Given the description of an element on the screen output the (x, y) to click on. 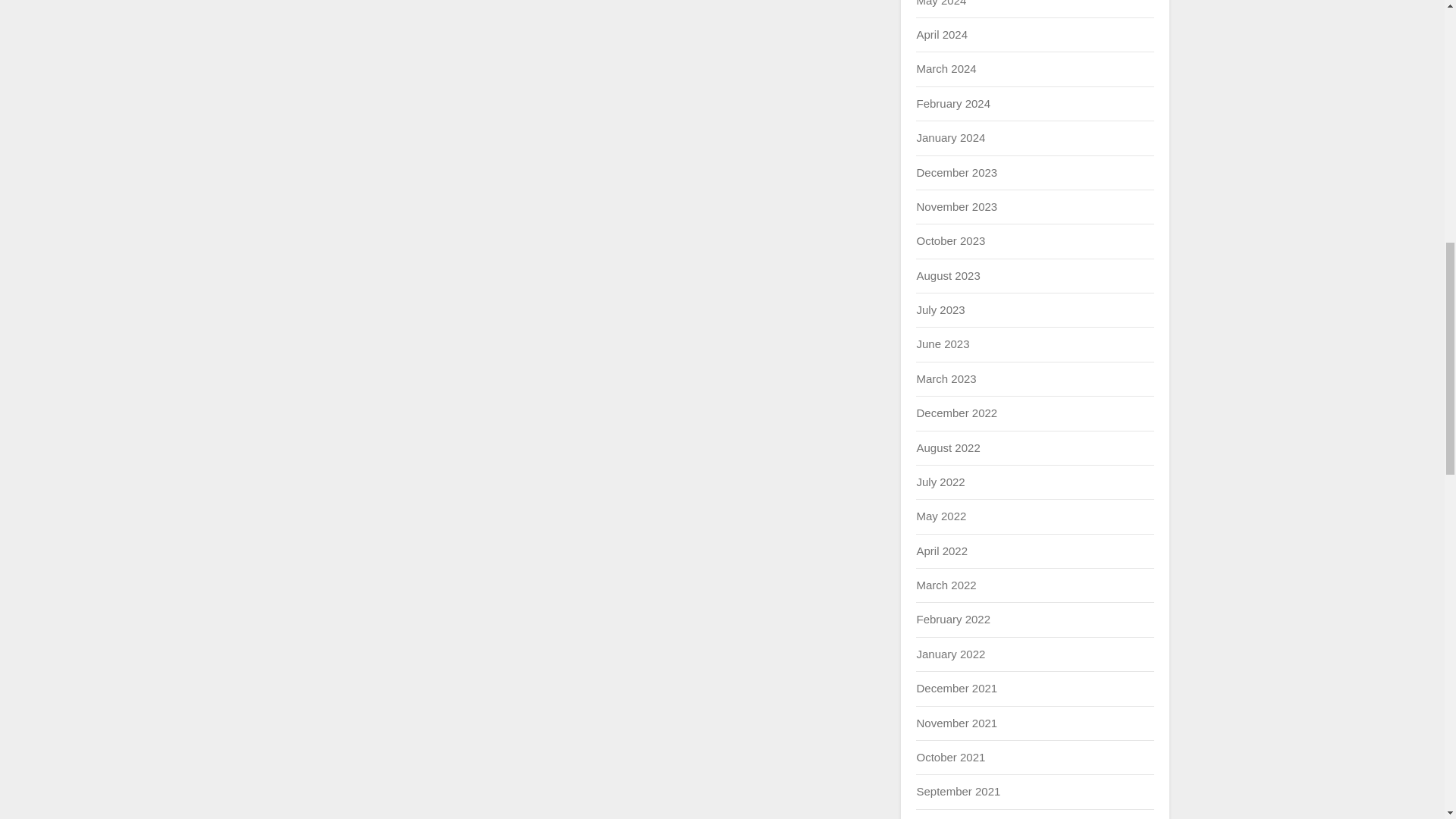
February 2024 (952, 103)
July 2022 (939, 481)
October 2023 (950, 240)
November 2023 (956, 205)
March 2024 (945, 68)
March 2022 (945, 584)
May 2024 (940, 3)
August 2023 (947, 275)
May 2022 (940, 515)
June 2023 (942, 343)
